Given the description of an element on the screen output the (x, y) to click on. 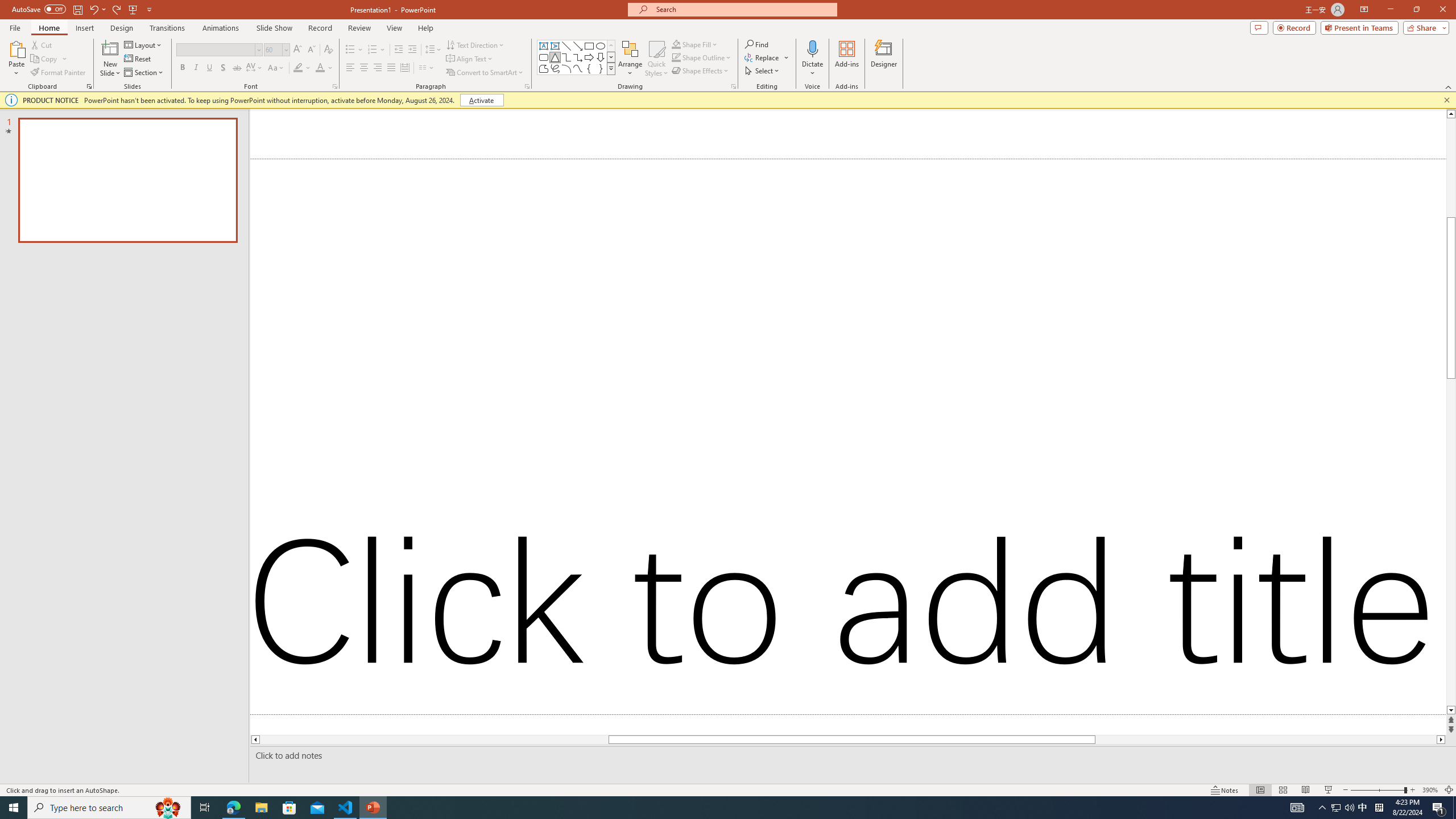
Rectangle (589, 45)
Decrease Font Size (310, 49)
New Slide (110, 58)
Vertical Text Box (554, 45)
Increase Indent (412, 49)
Select (762, 69)
Font Size (273, 49)
Shadow (223, 67)
Bold (182, 67)
Oval (600, 45)
Shapes (611, 68)
